Given the description of an element on the screen output the (x, y) to click on. 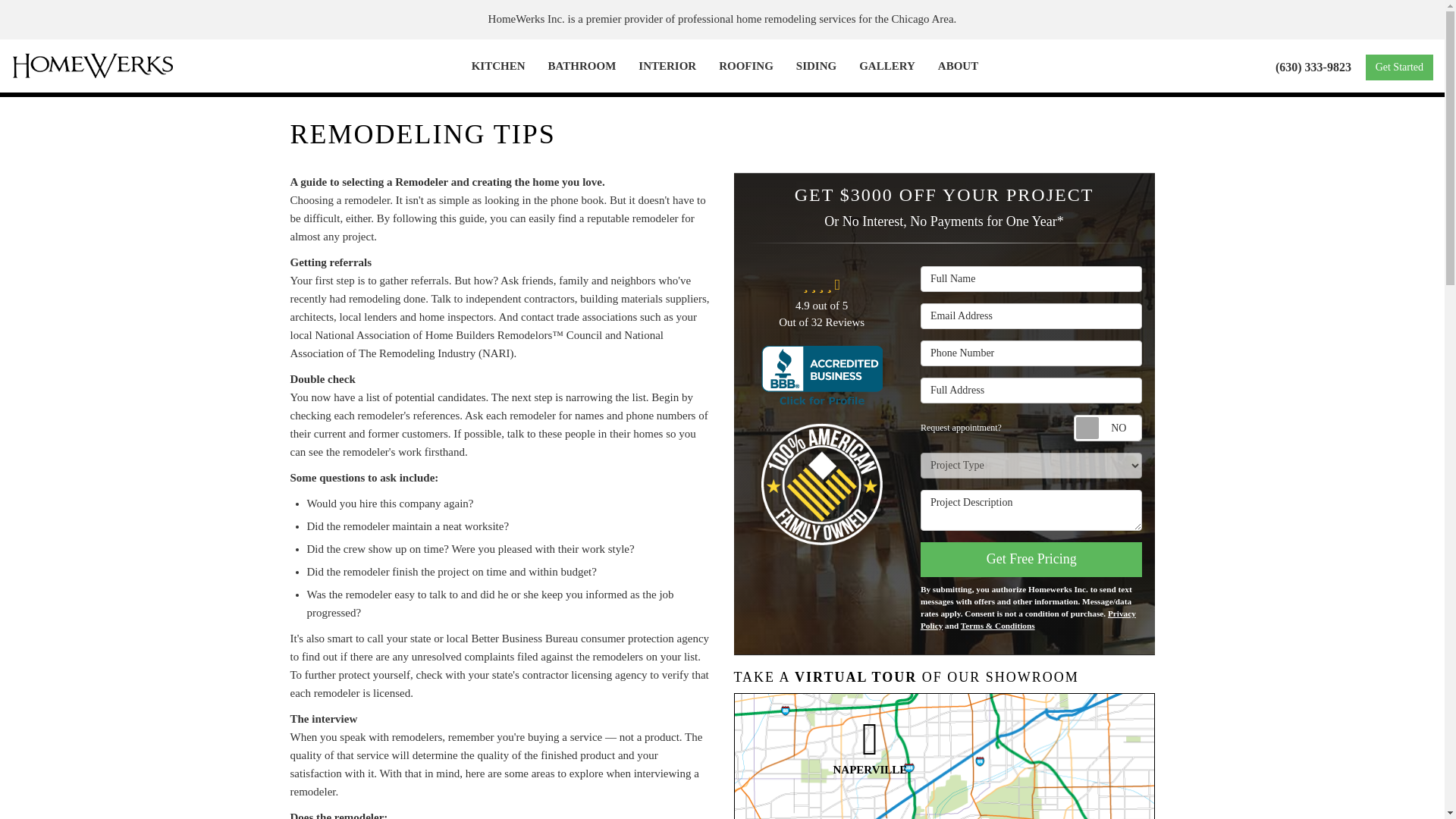
INTERIOR (667, 65)
KITCHEN (498, 65)
Get Started (1398, 67)
BATHROOM (582, 65)
ROOFING (745, 65)
SIDING (815, 65)
Get Started (1398, 67)
Naperville Showroom (869, 747)
ABOUT (958, 65)
GALLERY (886, 65)
